Given the description of an element on the screen output the (x, y) to click on. 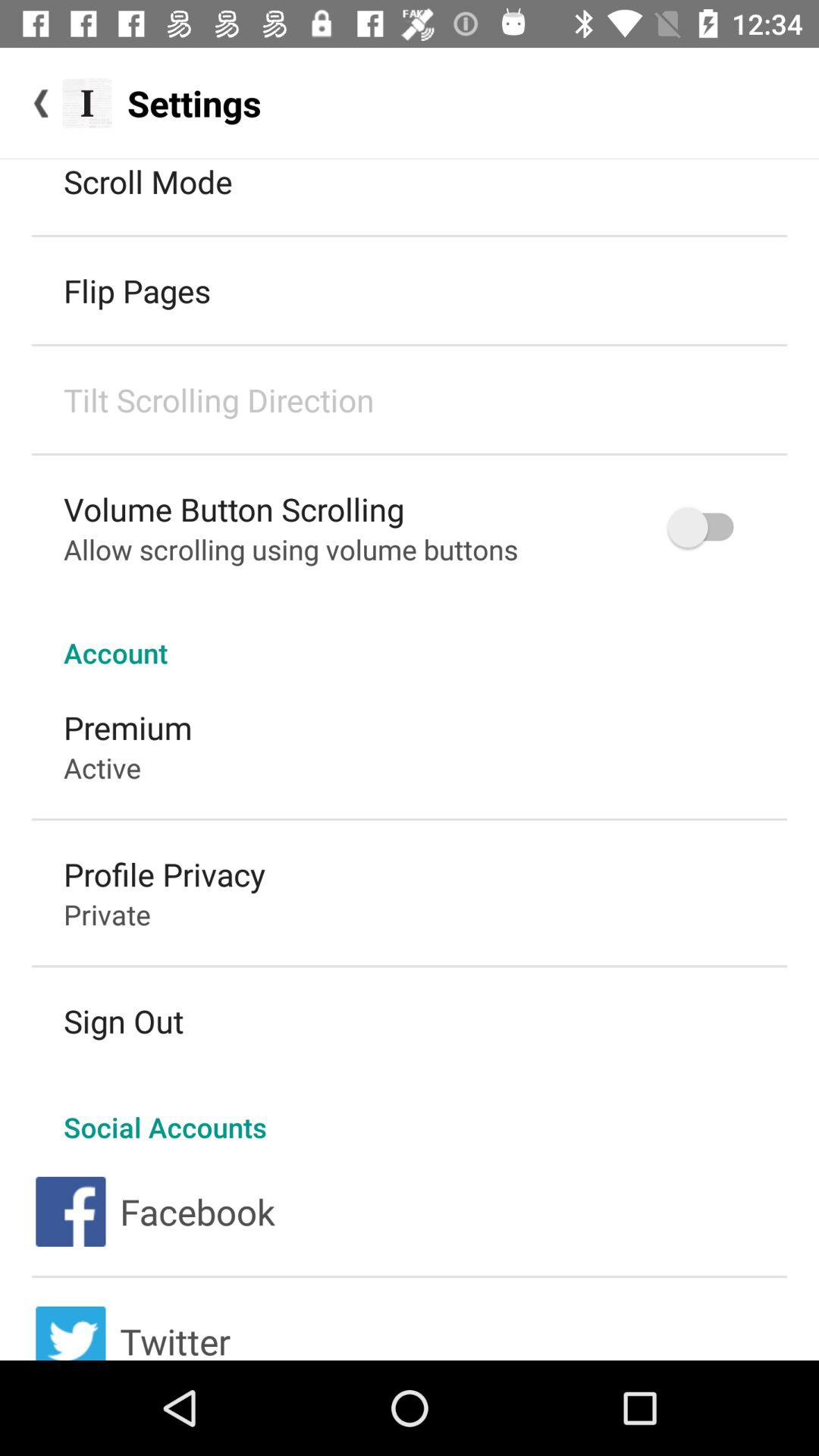
turn off icon above the active icon (127, 727)
